Given the description of an element on the screen output the (x, y) to click on. 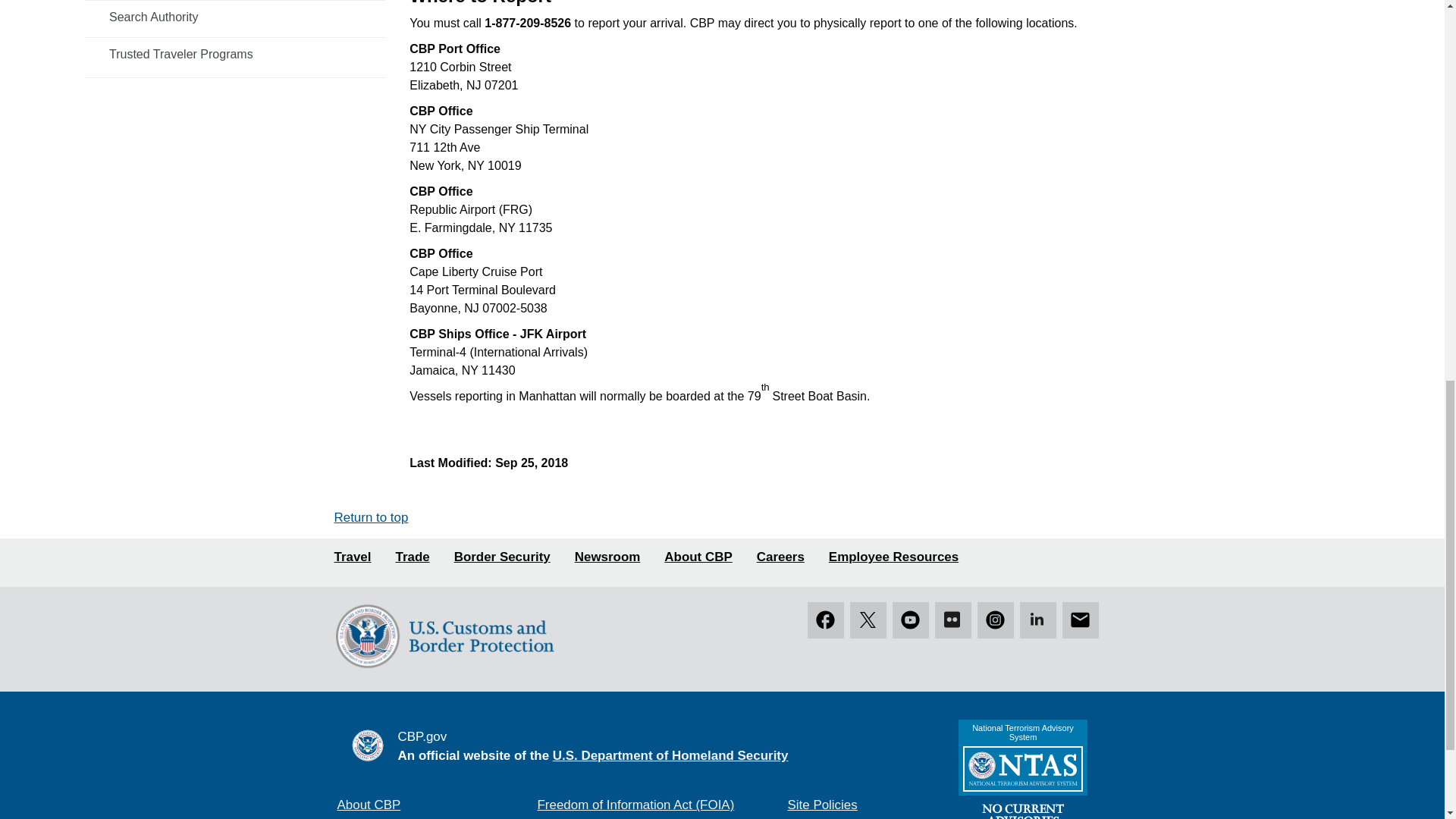
Newsroom (607, 557)
National Terrorism Advisory System (1022, 769)
Return to top (370, 517)
Search Authority (234, 17)
Trusted Traveler Programs (234, 54)
Border Security (502, 557)
Careers (781, 557)
Travel (352, 557)
About (697, 557)
Travel (352, 557)
